Given the description of an element on the screen output the (x, y) to click on. 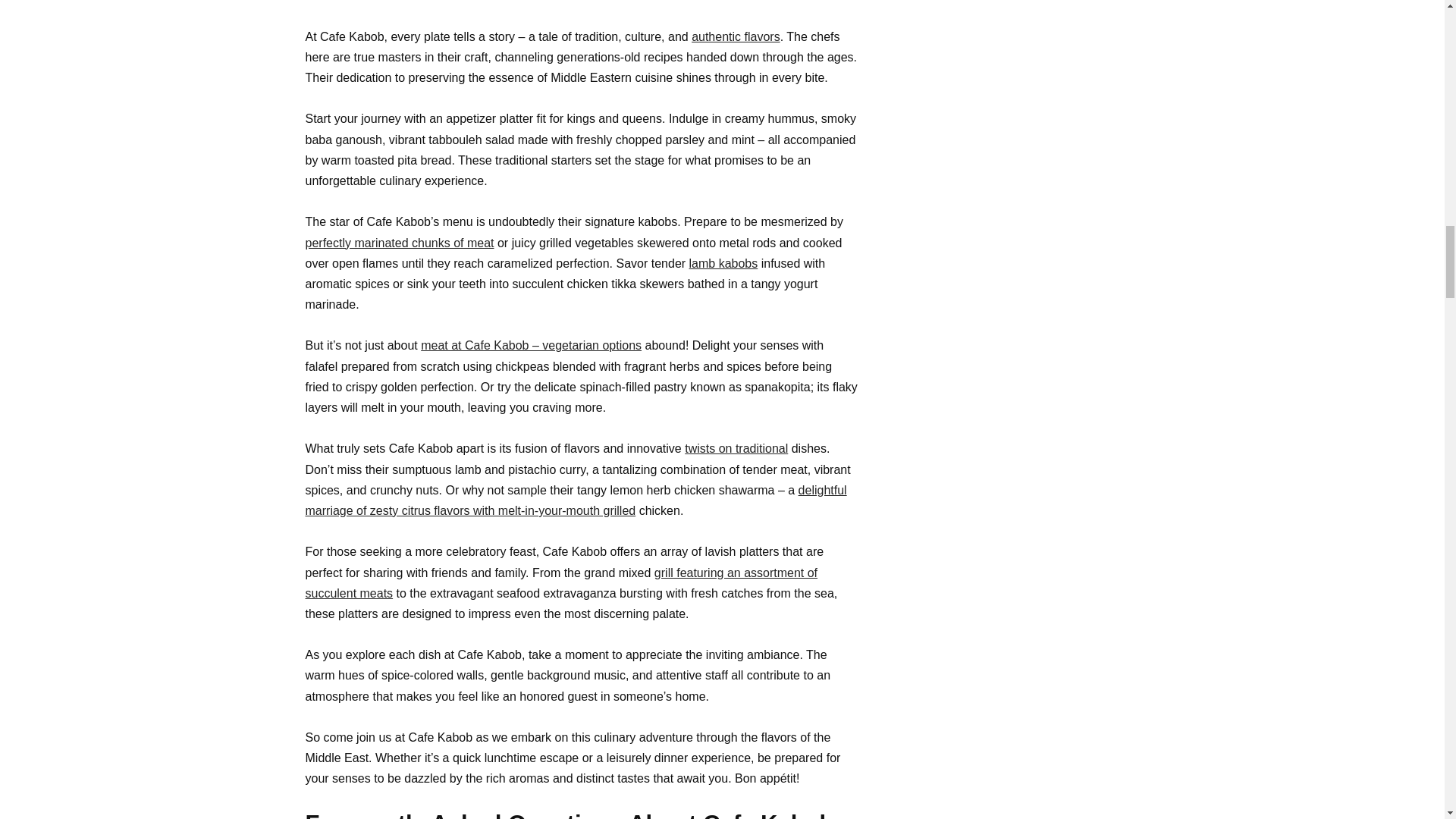
perfectly marinated chunks of meat (398, 242)
authentic flavors (735, 36)
